Given the description of an element on the screen output the (x, y) to click on. 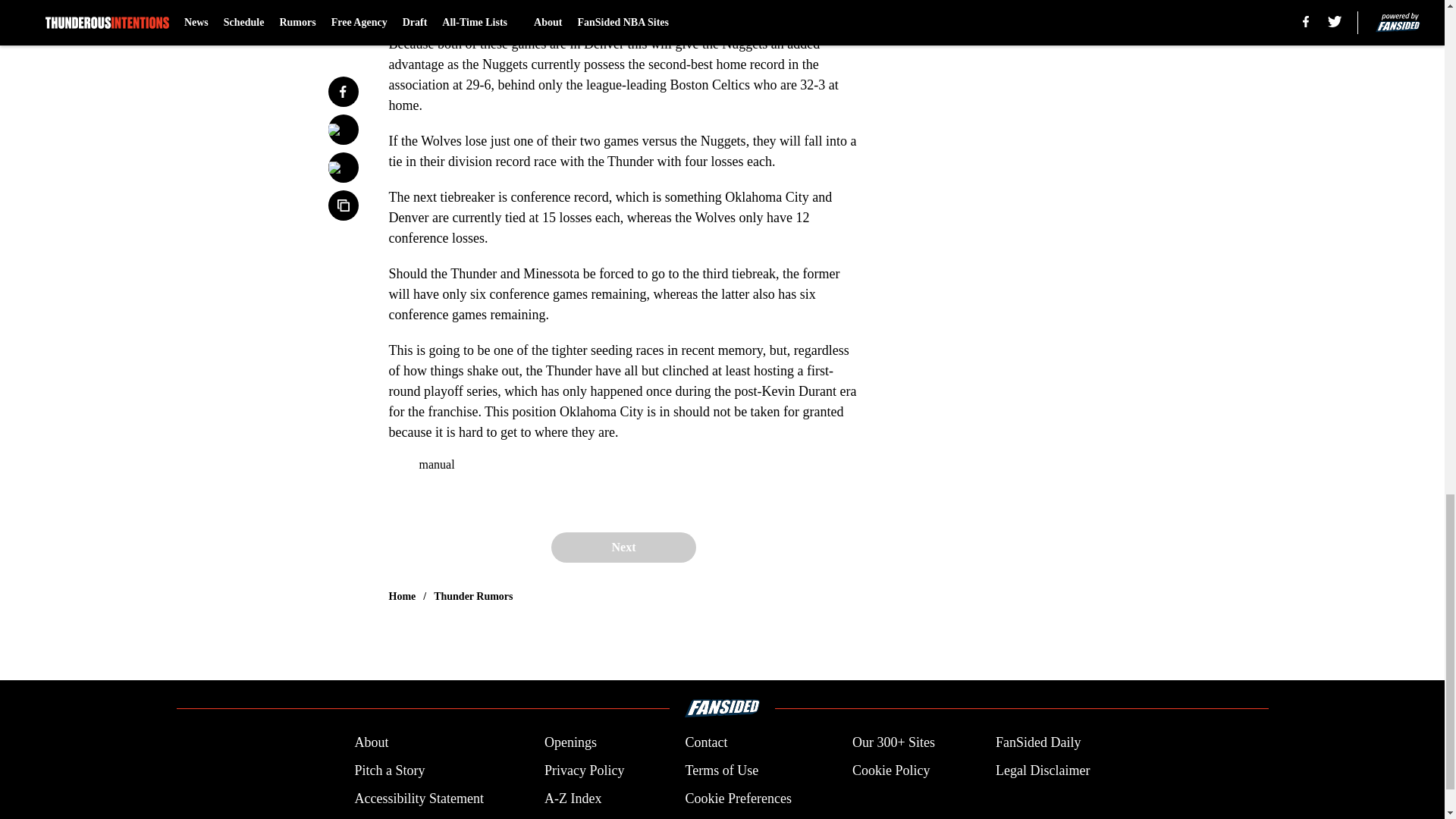
Thunder Rumors (472, 596)
FanSided Daily (1038, 742)
Openings (570, 742)
Cookie Policy (890, 770)
About (370, 742)
Legal Disclaimer (1042, 770)
Terms of Use (721, 770)
Next (622, 547)
Home (401, 596)
Pitch a Story (389, 770)
